Given the description of an element on the screen output the (x, y) to click on. 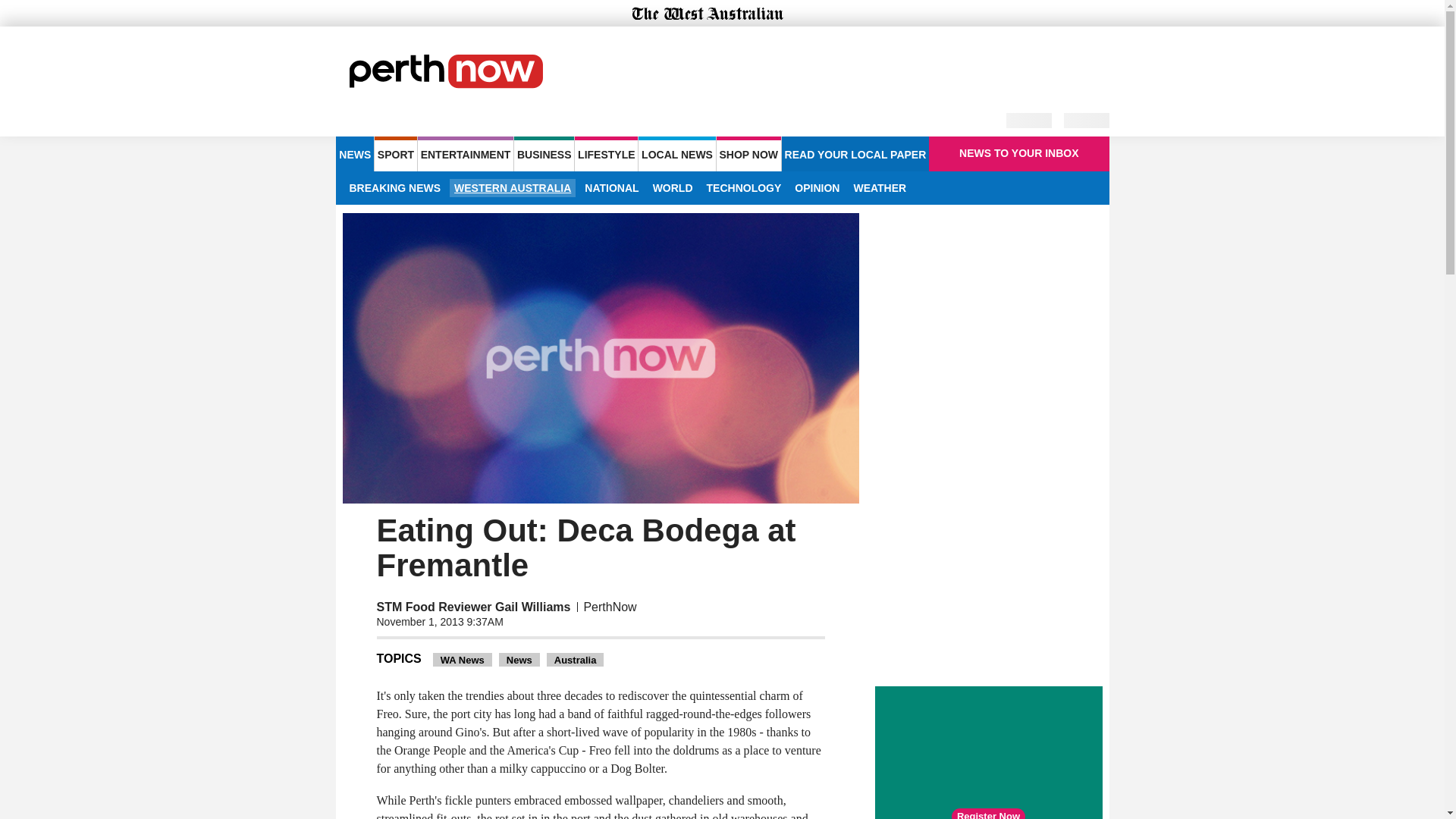
ENTERTAINMENT (465, 153)
SPORT (395, 153)
NEWS (354, 153)
BUSINESS (543, 153)
